Given the description of an element on the screen output the (x, y) to click on. 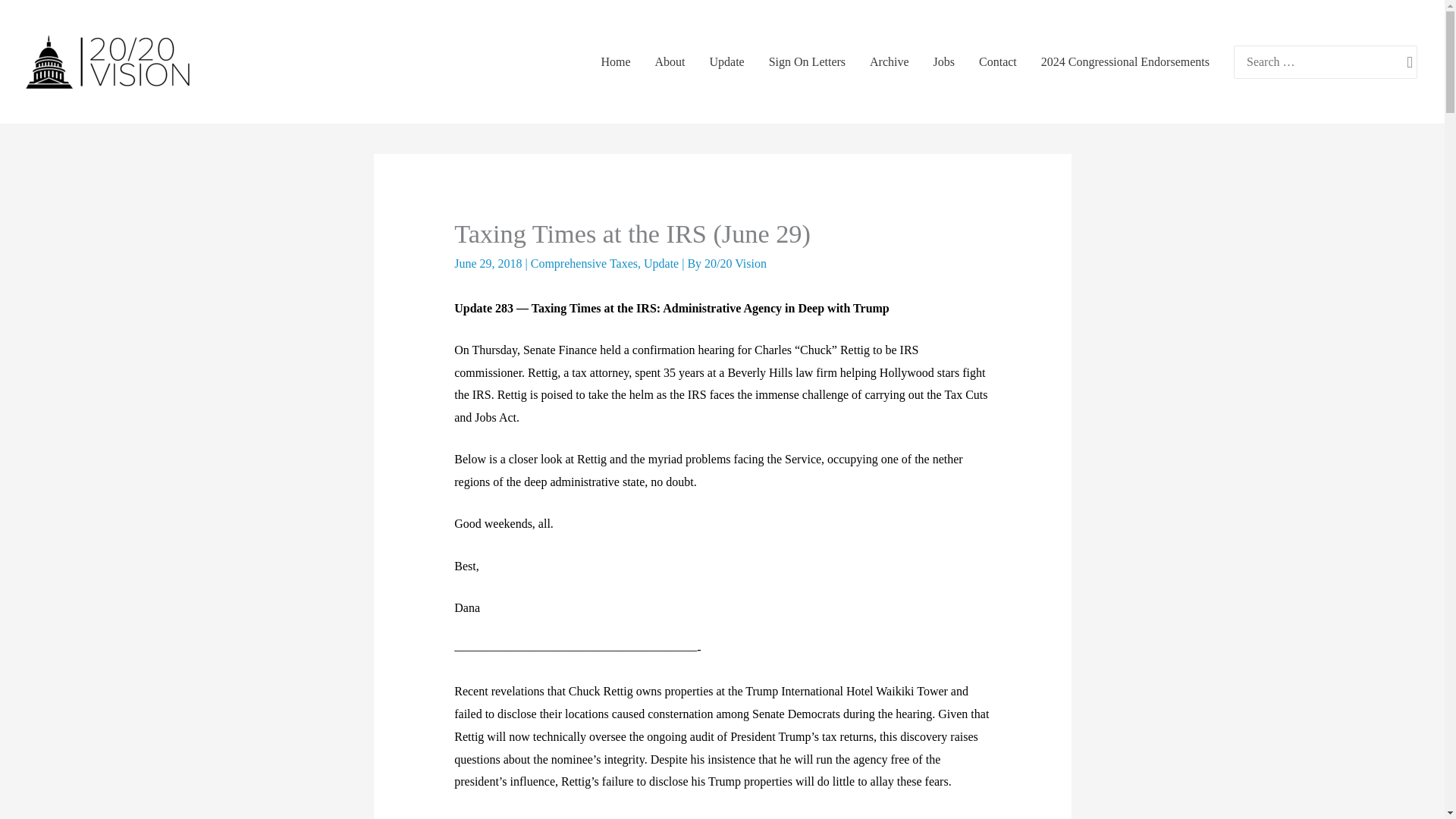
Update (727, 61)
About (670, 61)
Jobs (943, 61)
Comprehensive Taxes (584, 263)
Sign On Letters (807, 61)
Home (615, 61)
2024 Congressional Endorsements (1125, 61)
Update (660, 263)
Archive (889, 61)
Contact (997, 61)
